Given the description of an element on the screen output the (x, y) to click on. 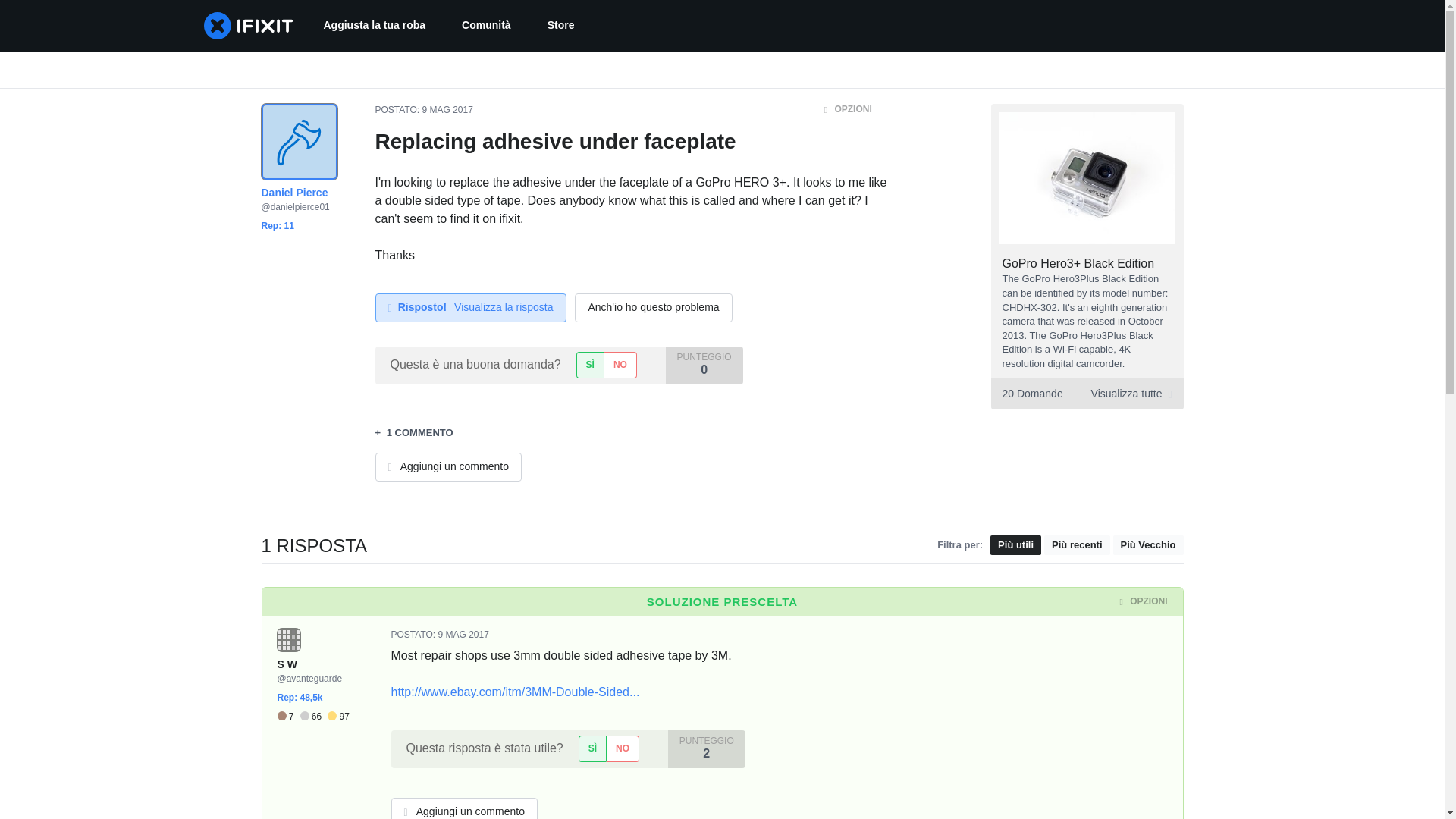
Aggiusta la tua roba (374, 25)
Aggiungi un commento (447, 466)
NO (622, 748)
Tue, 09 May 2017 22:23:38 -0700 (447, 109)
Anch'io ho questo problema (653, 307)
Risposto! Visualizza la risposta (470, 307)
7 Bronzo distintivi (288, 716)
Tue, 09 May 2017 23:09:39 -0700 (463, 634)
7 66 97 (313, 716)
NO (620, 365)
